Given the description of an element on the screen output the (x, y) to click on. 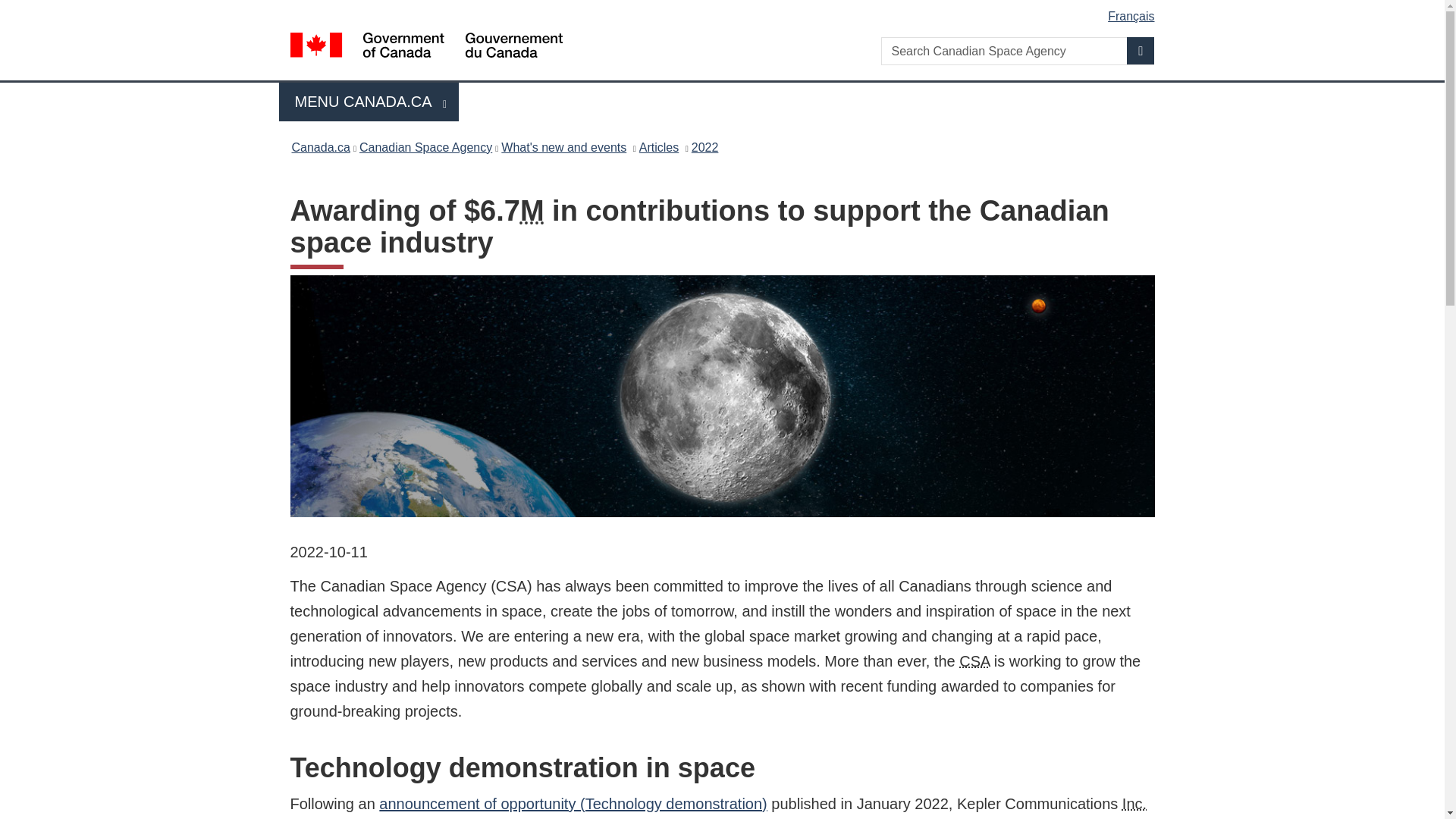
Canadian Space Agency (425, 147)
Canada.ca (320, 147)
2022 (705, 147)
Skip to main content (725, 11)
What's new and events (563, 147)
Articles (658, 147)
Canadian Space Agency (974, 660)
Incorporated (1134, 803)
Search (369, 101)
